Given the description of an element on the screen output the (x, y) to click on. 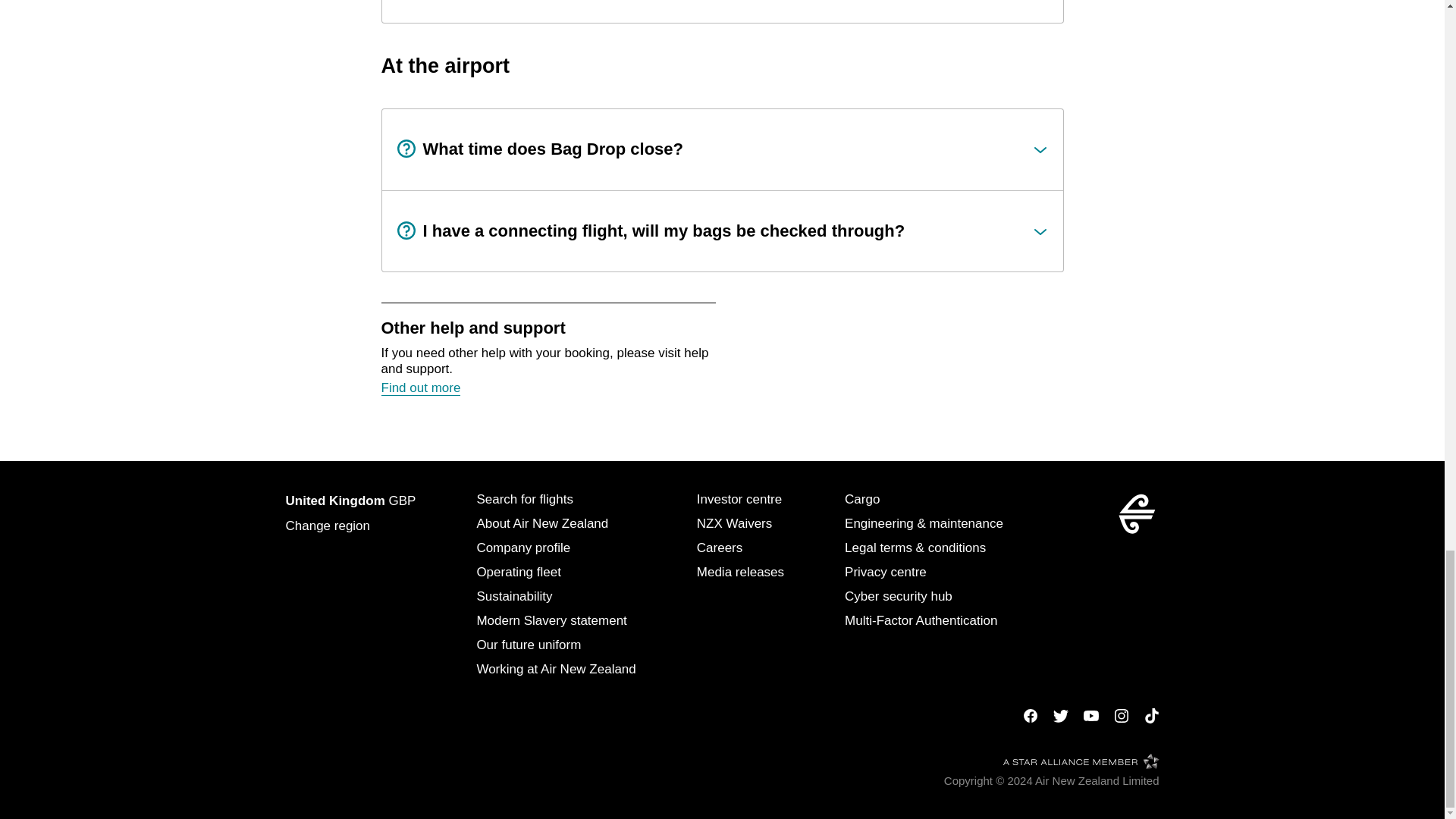
A Star Alliance member (1080, 761)
